Given the description of an element on the screen output the (x, y) to click on. 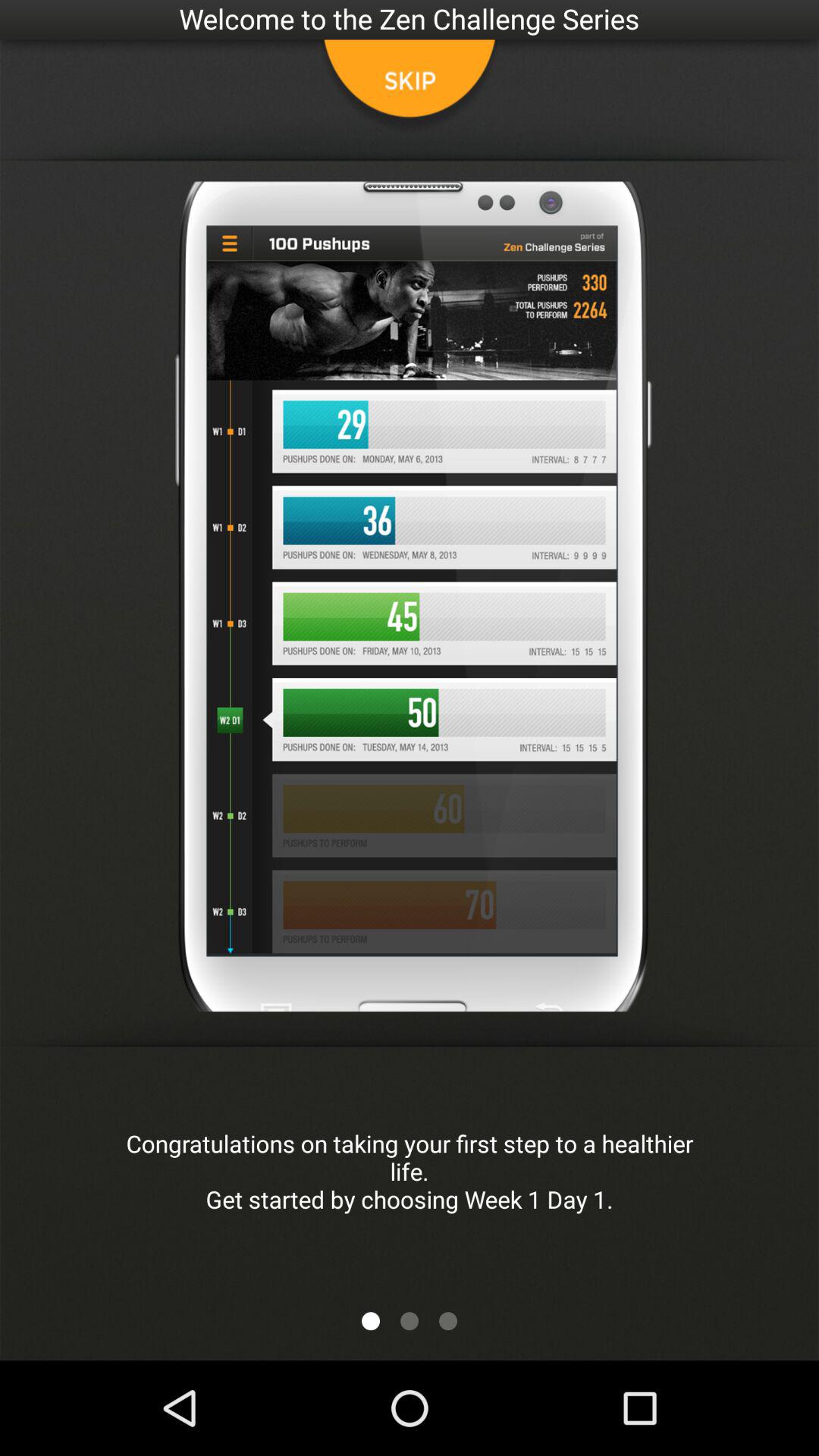
next button (409, 1321)
